Given the description of an element on the screen output the (x, y) to click on. 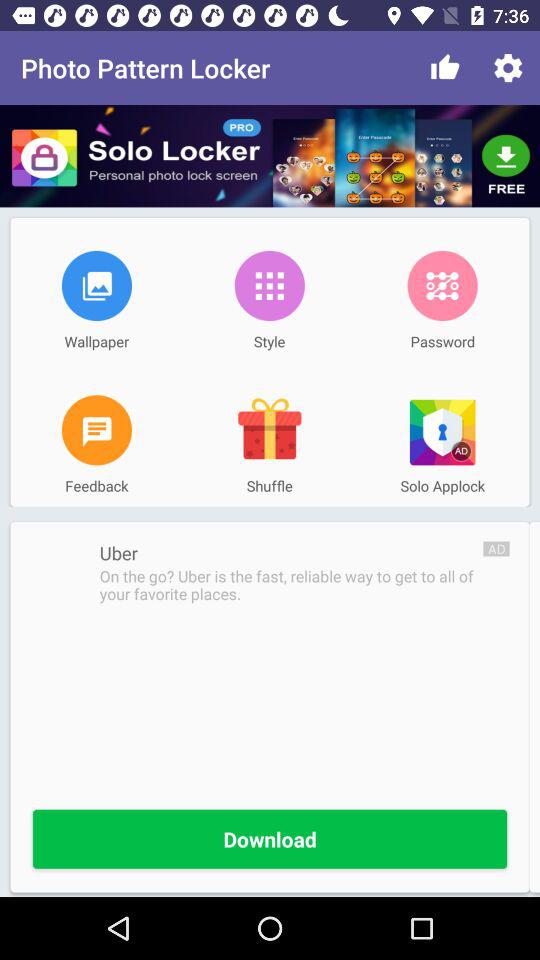
select the icon below wallpaper item (96, 430)
